Given the description of an element on the screen output the (x, y) to click on. 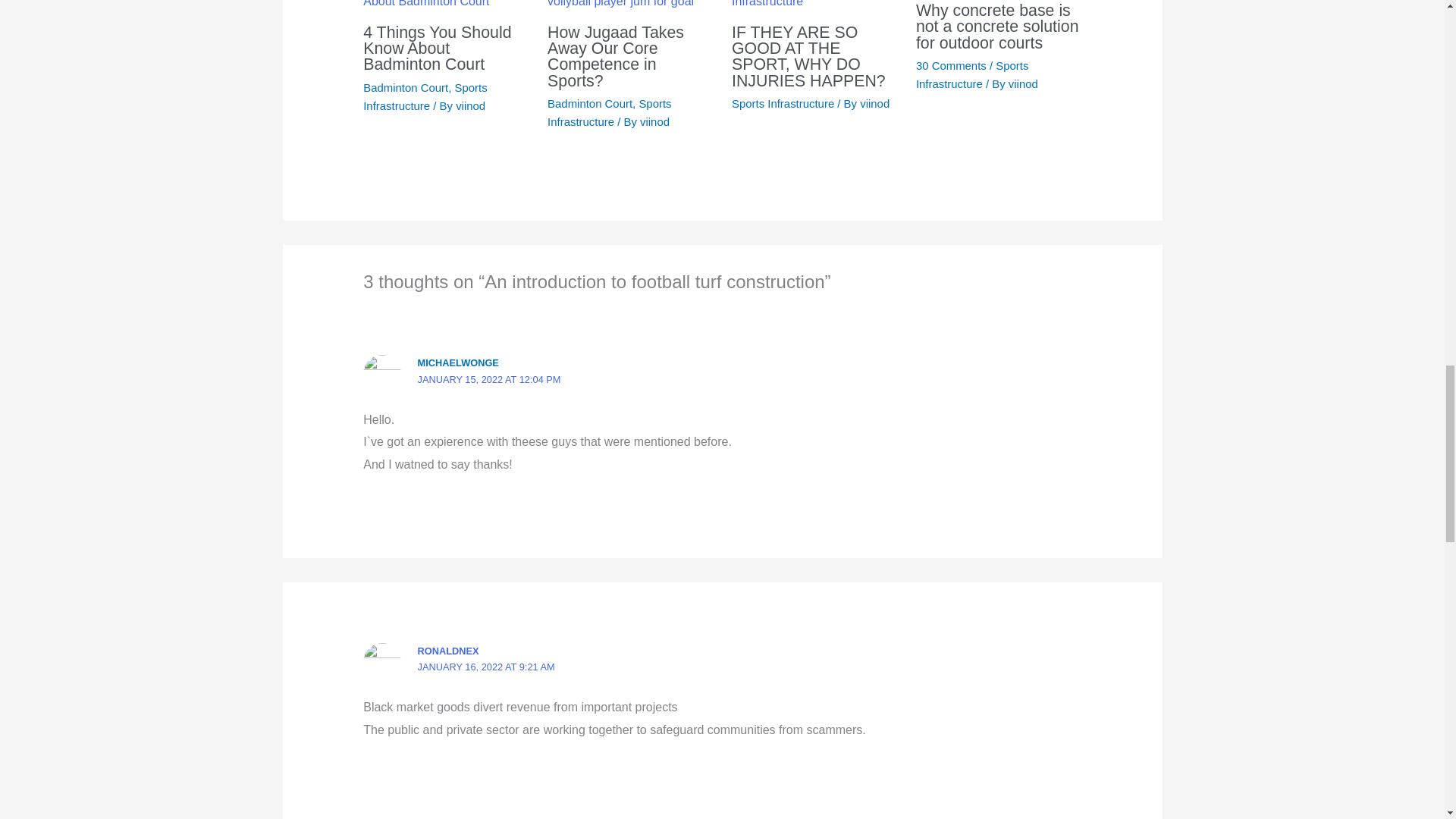
View all posts by viinod (874, 103)
View all posts by viinod (1023, 83)
View all posts by viinod (654, 121)
View all posts by viinod (469, 105)
